Given the description of an element on the screen output the (x, y) to click on. 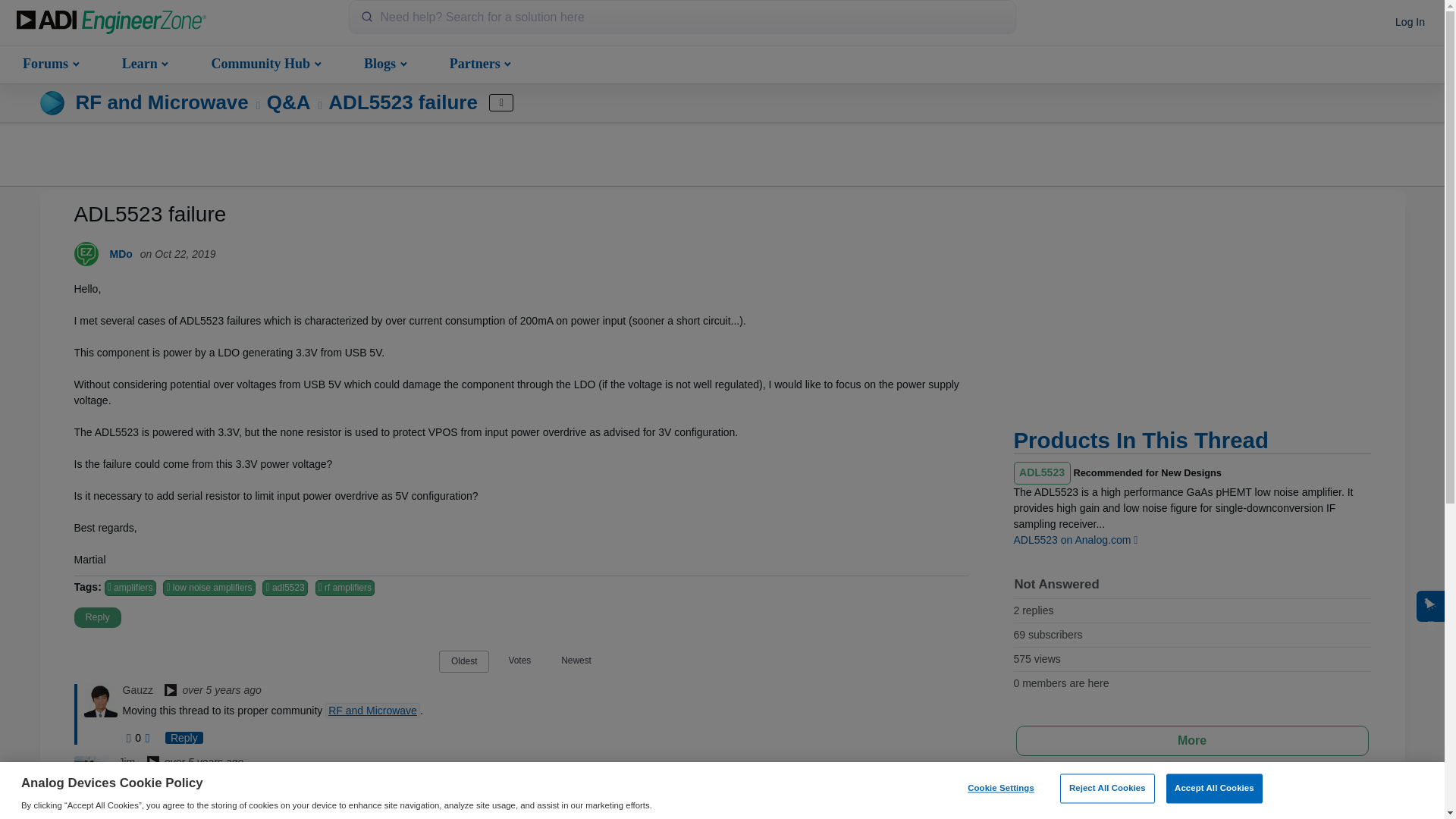
Log In (1409, 22)
Home (111, 22)
Analog Employees (170, 691)
Analog Employees (152, 763)
Forums (49, 62)
Join or sign in (1409, 22)
